Given the description of an element on the screen output the (x, y) to click on. 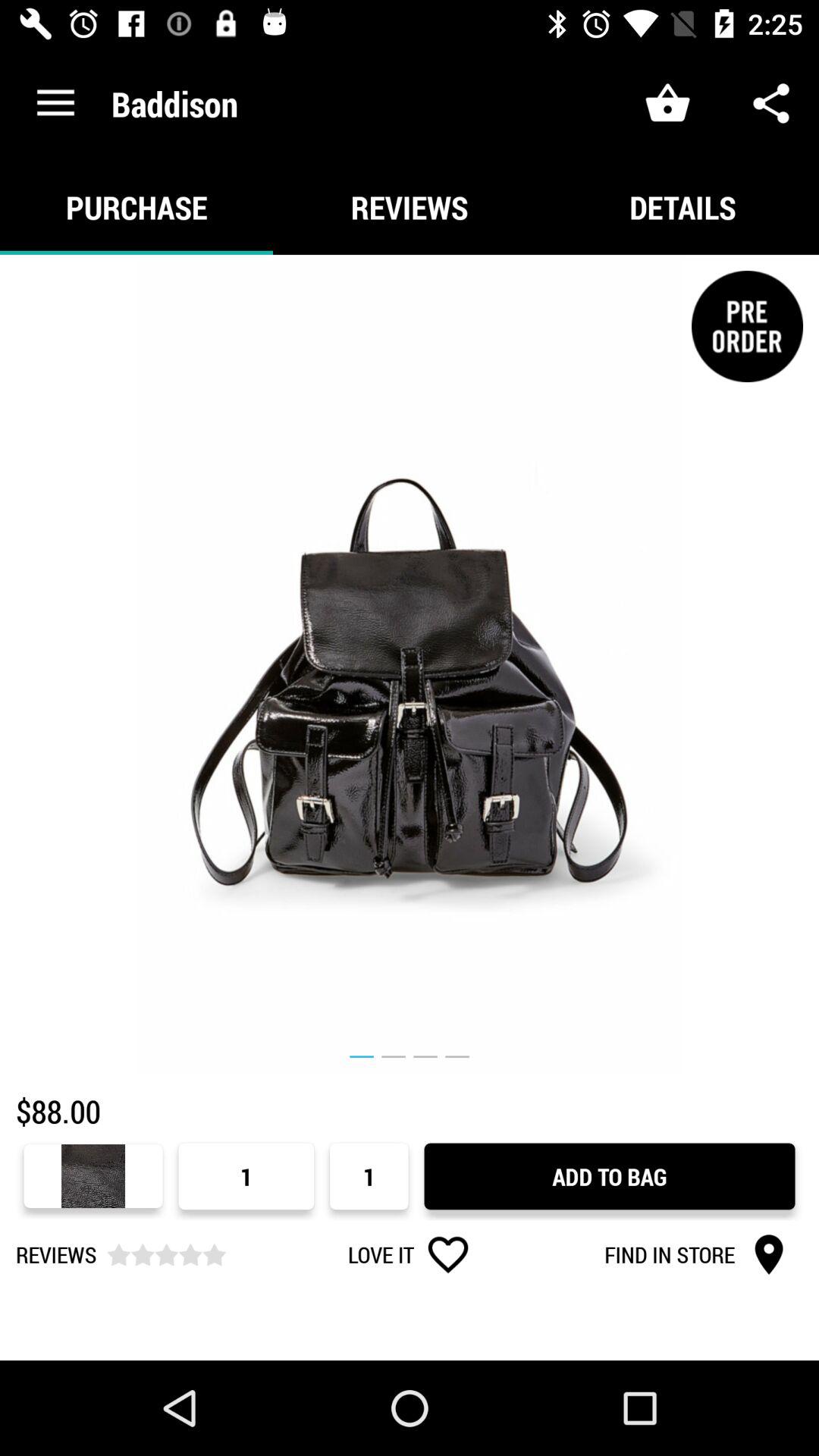
item images (409, 663)
